Given the description of an element on the screen output the (x, y) to click on. 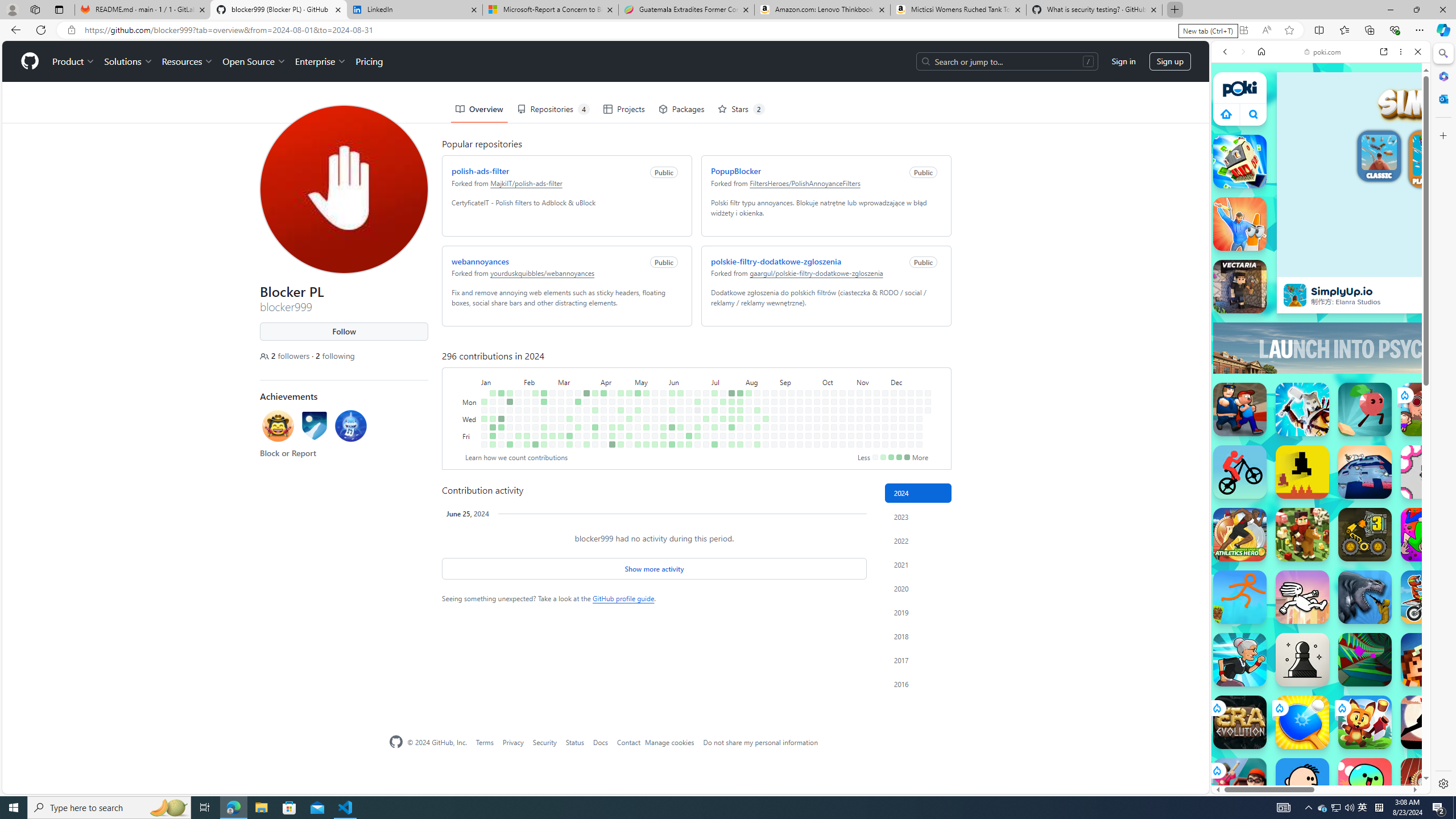
No contributions on April 16th. (611, 410)
3 contributions on February 10th. (526, 444)
No contributions on April 15th. (611, 401)
No contributions on August 16th. (757, 435)
No contributions on March 27th. (586, 418)
No contributions on August 29th. (774, 427)
Combat Reloaded (1349, 523)
No contributions on May 2nd. (628, 427)
5 contributions on March 18th. (577, 401)
7 contributions on June 6th. (671, 427)
Status (573, 741)
No contributions on November 27th. (885, 418)
No contributions on September 14th. (790, 444)
No contributions on September 13th. (790, 435)
